Given the description of an element on the screen output the (x, y) to click on. 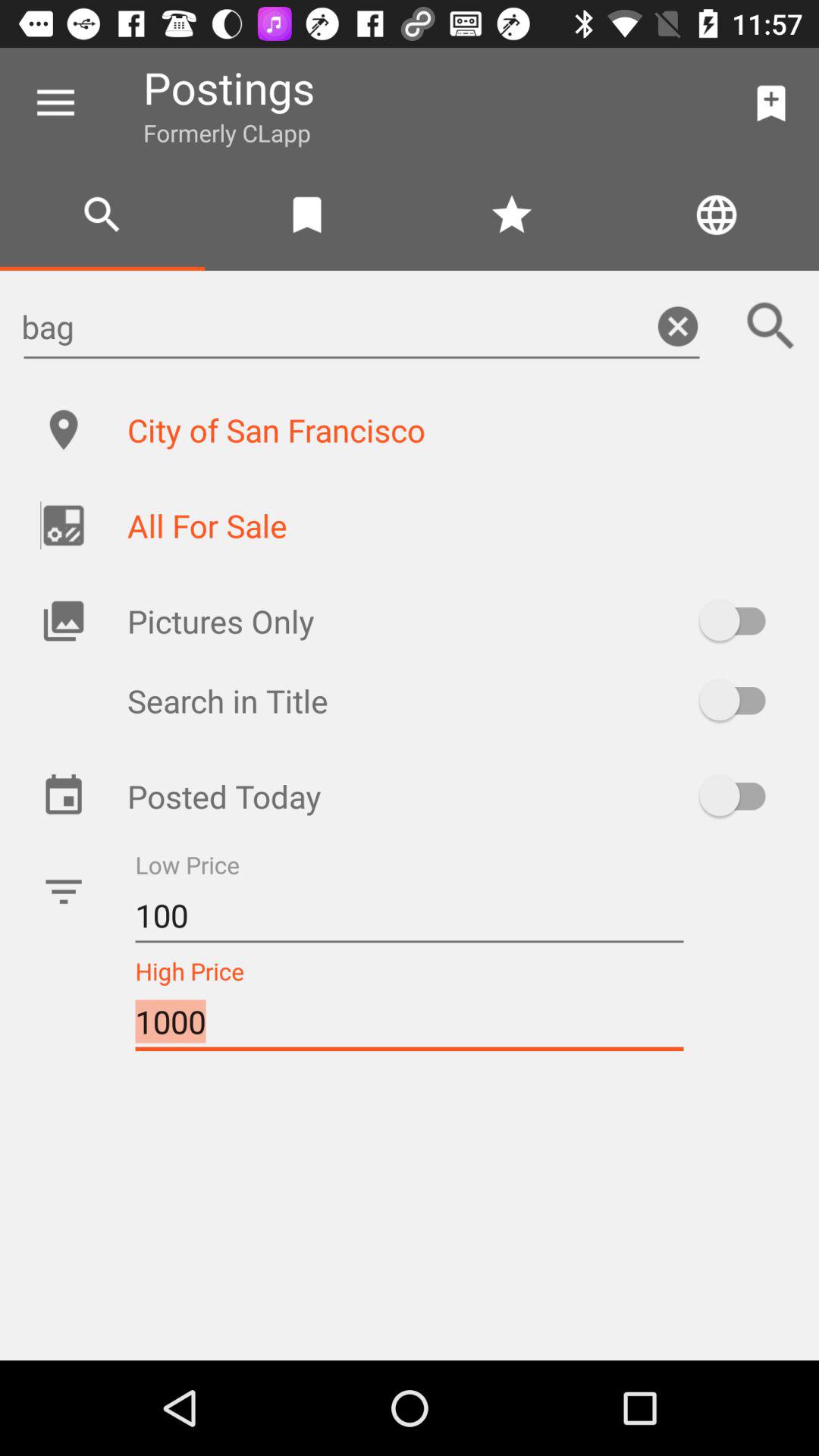
toggle search option (739, 700)
